Given the description of an element on the screen output the (x, y) to click on. 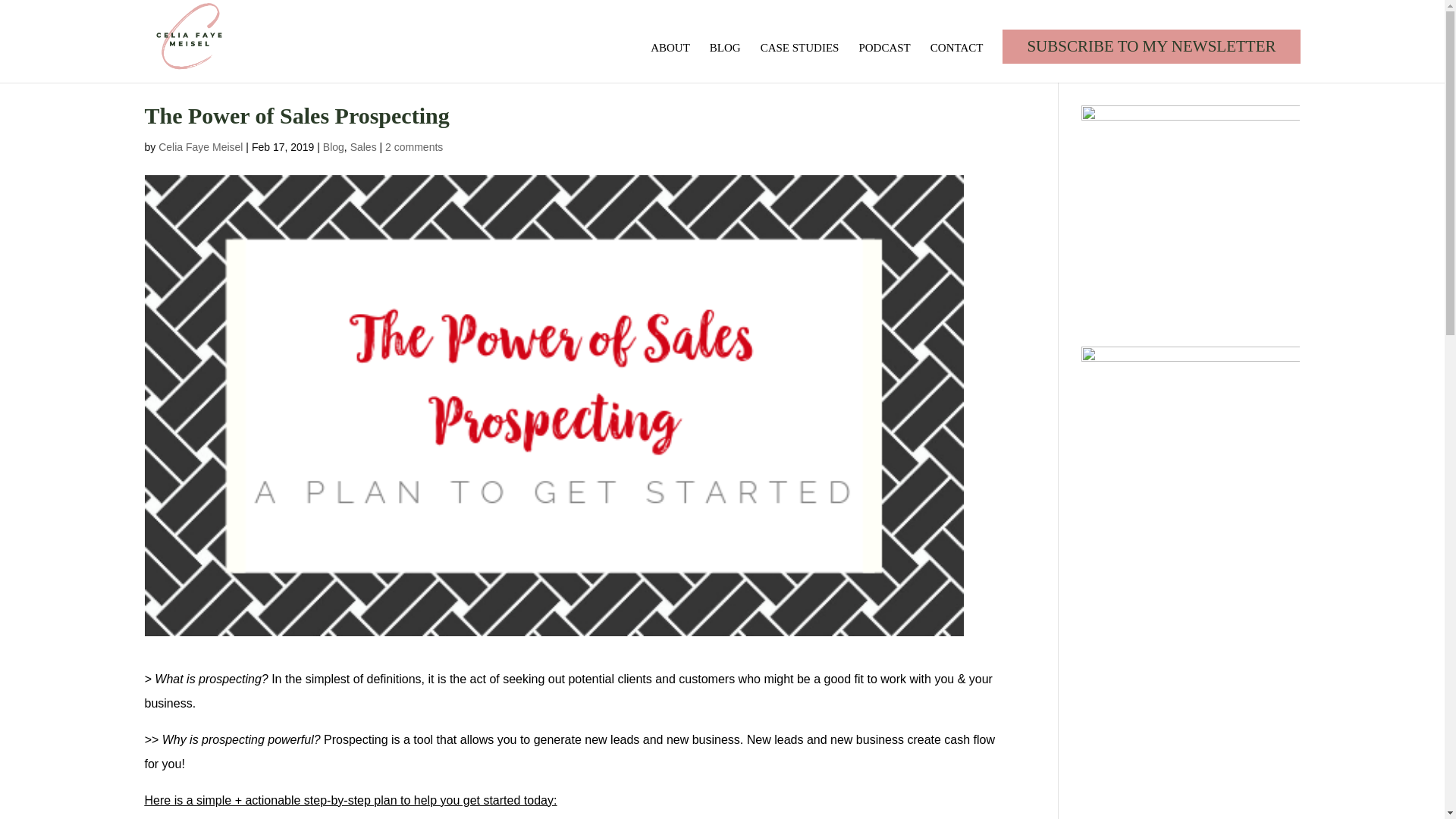
CONTACT (957, 62)
Posts by Celia Faye Meisel (200, 146)
CASE STUDIES (800, 62)
2 comments (413, 146)
ABOUT (670, 62)
Blog (333, 146)
SUBSCRIBE TO MY NEWSLETTER (1151, 46)
PODCAST (884, 62)
Celia Faye Meisel (200, 146)
Sales (363, 146)
